Given the description of an element on the screen output the (x, y) to click on. 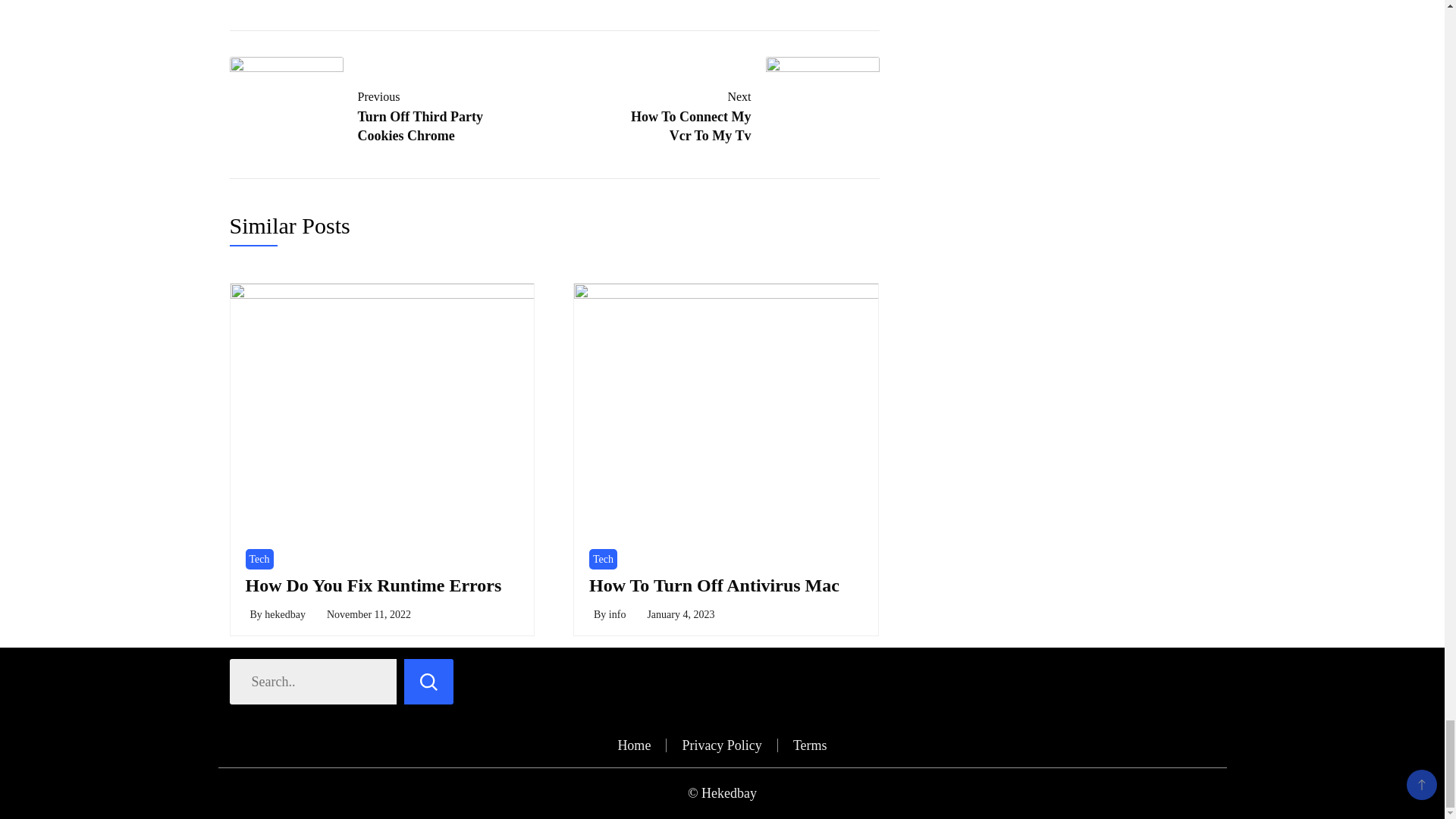
info (617, 614)
hekedbay (284, 614)
January 4, 2023 (680, 614)
Tech (259, 558)
November 11, 2022 (368, 614)
Tech (368, 113)
How To Turn Off Antivirus Mac (739, 113)
How Do You Fix Runtime Errors (603, 558)
